Given the description of an element on the screen output the (x, y) to click on. 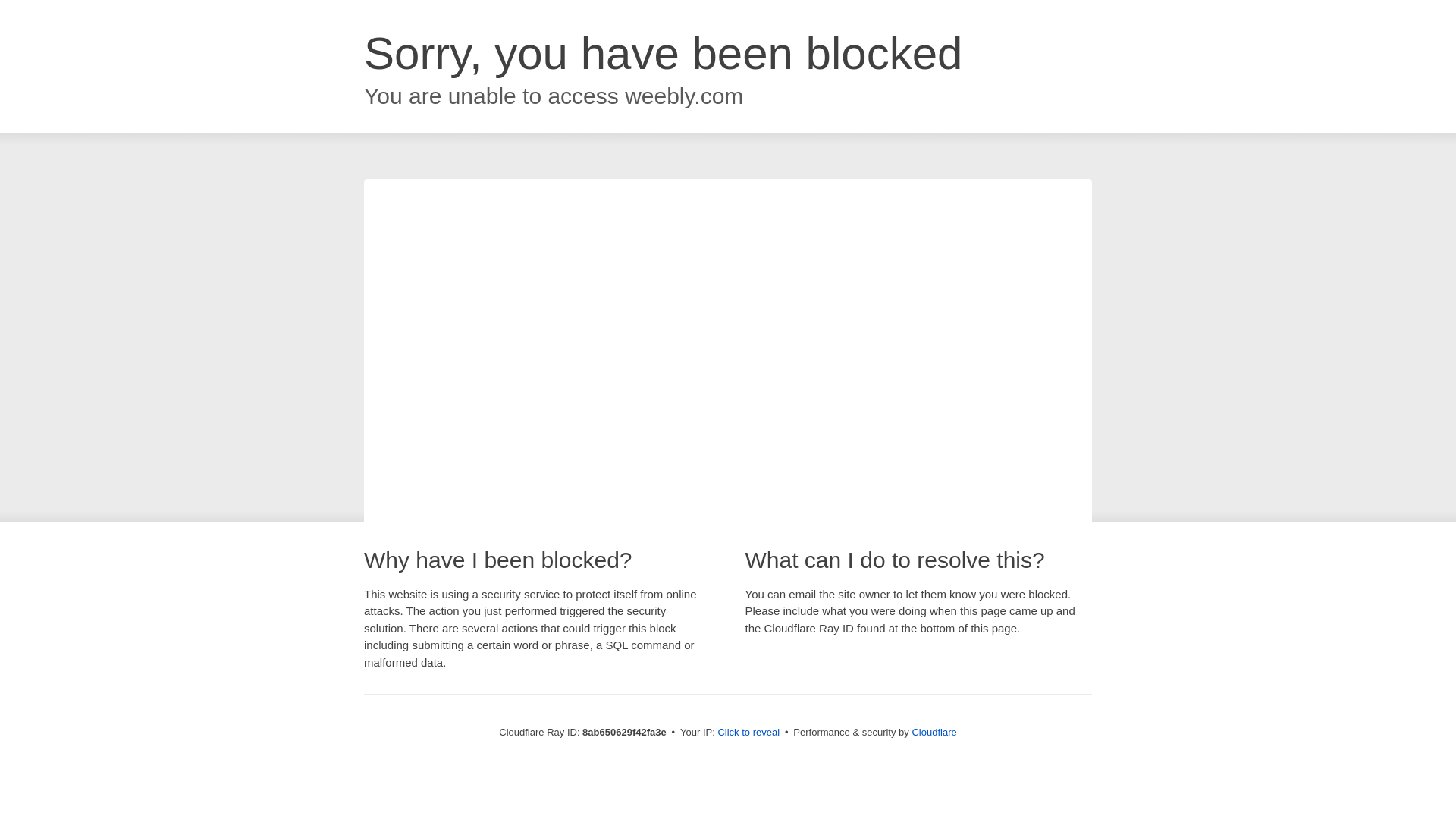
Click to reveal (747, 732)
Cloudflare (933, 731)
